Given the description of an element on the screen output the (x, y) to click on. 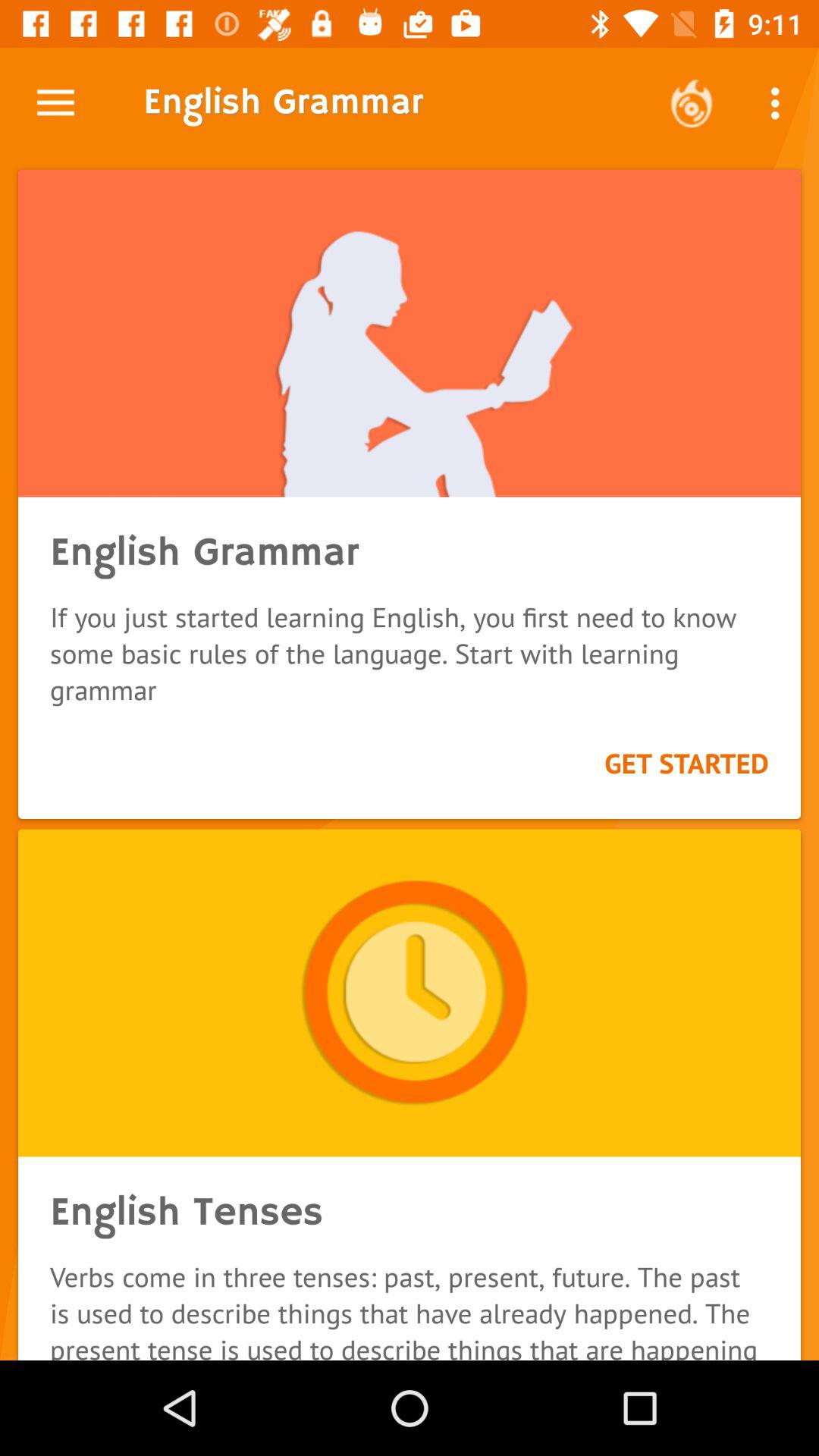
tap item next to the english grammar (691, 103)
